Given the description of an element on the screen output the (x, y) to click on. 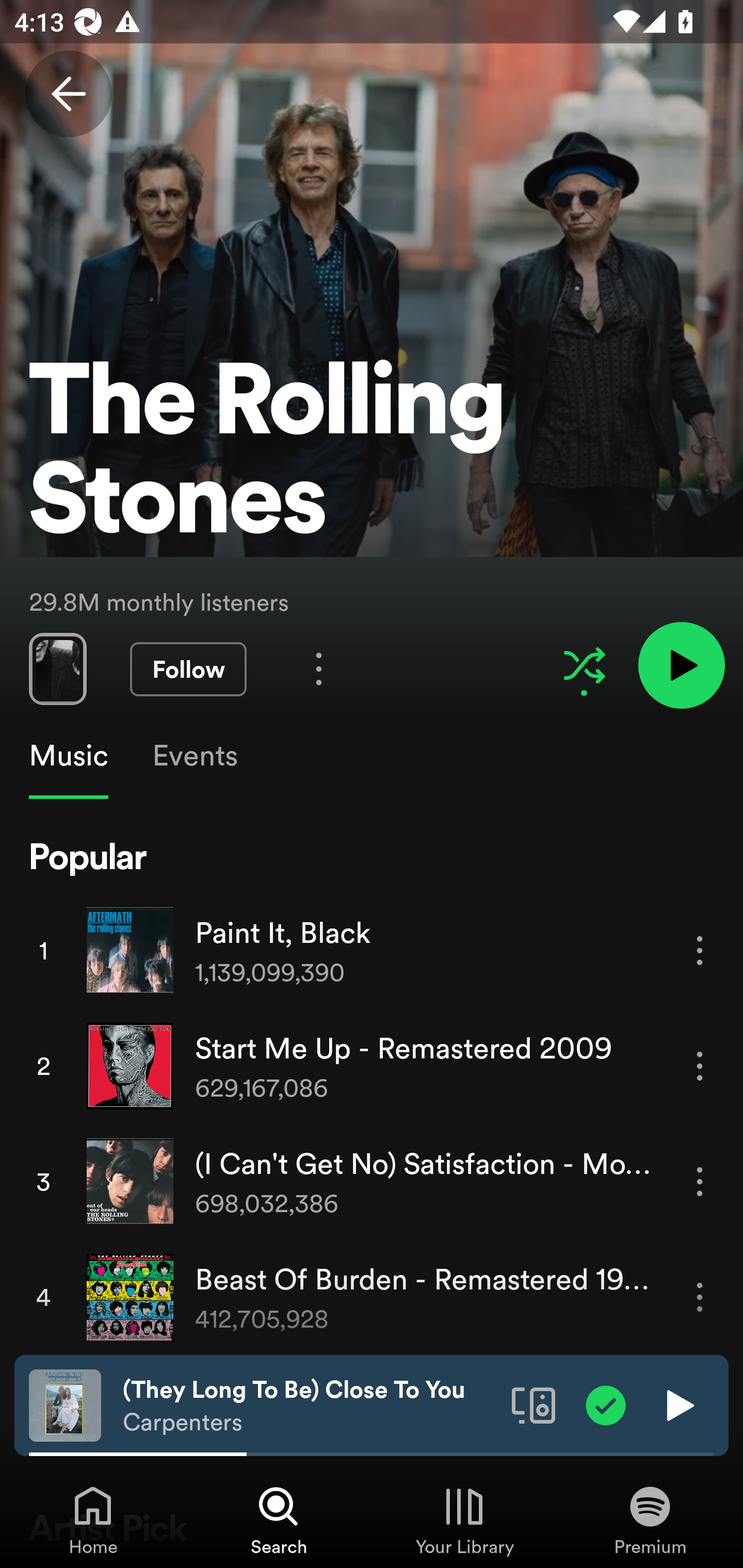
Back (68, 93)
Play artist (681, 664)
Disable shuffle for this artist (583, 665)
Swipe through previews of tracks from this artist. (57, 668)
More options for artist The Rolling Stones (318, 668)
Follow (188, 669)
Events (194, 755)
More options for song Paint It, Black (699, 950)
(They Long To Be) Close To You Carpenters (309, 1405)
The cover art of the currently playing track (64, 1404)
Connect to a device. Opens the devices menu (533, 1404)
Item added (605, 1404)
Play (677, 1404)
Home, Tab 1 of 4 Home Home (92, 1519)
Search, Tab 2 of 4 Search Search (278, 1519)
Your Library, Tab 3 of 4 Your Library Your Library (464, 1519)
Premium, Tab 4 of 4 Premium Premium (650, 1519)
